Given the description of an element on the screen output the (x, y) to click on. 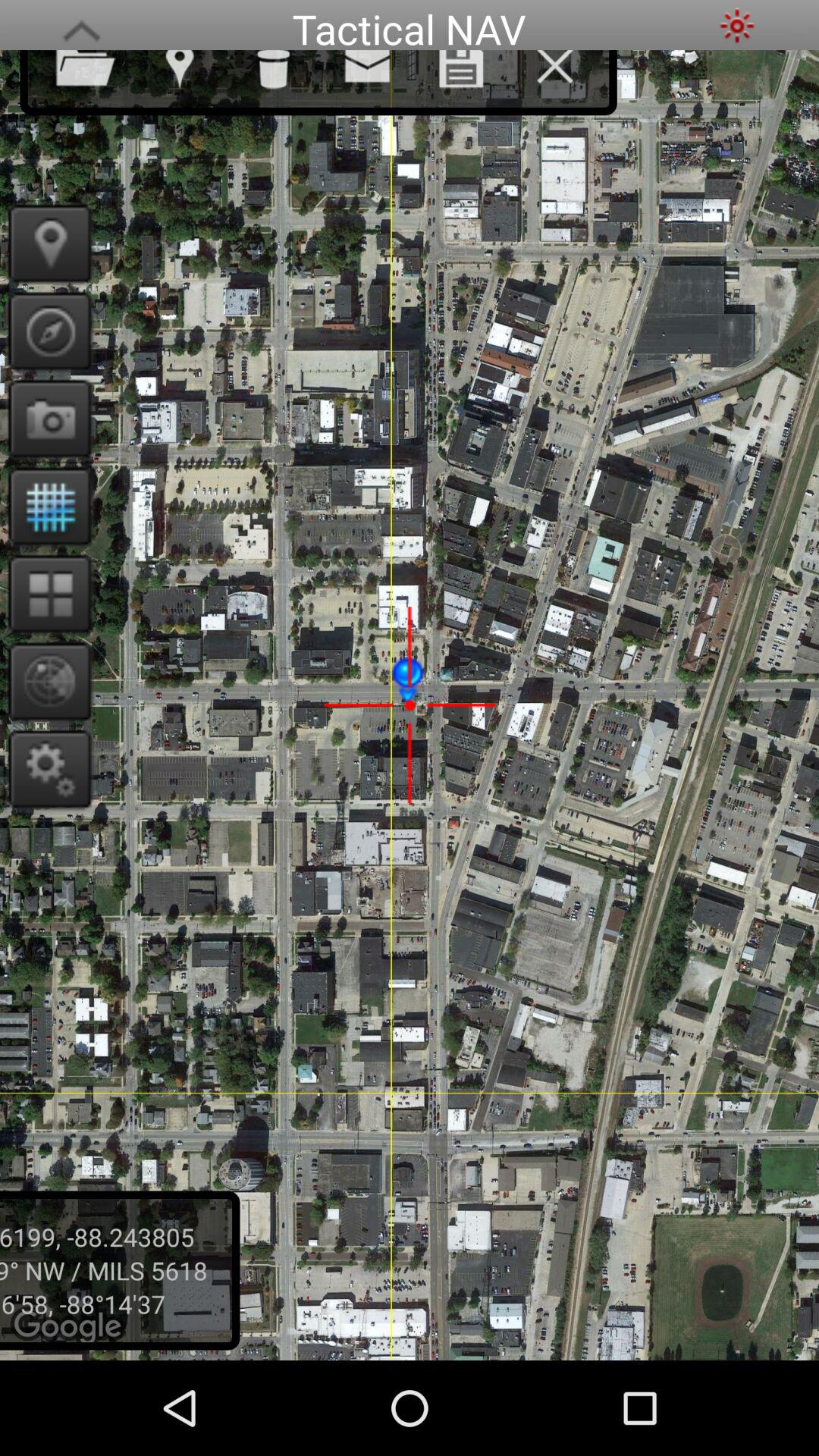
toggle compass view (45, 681)
